Given the description of an element on the screen output the (x, y) to click on. 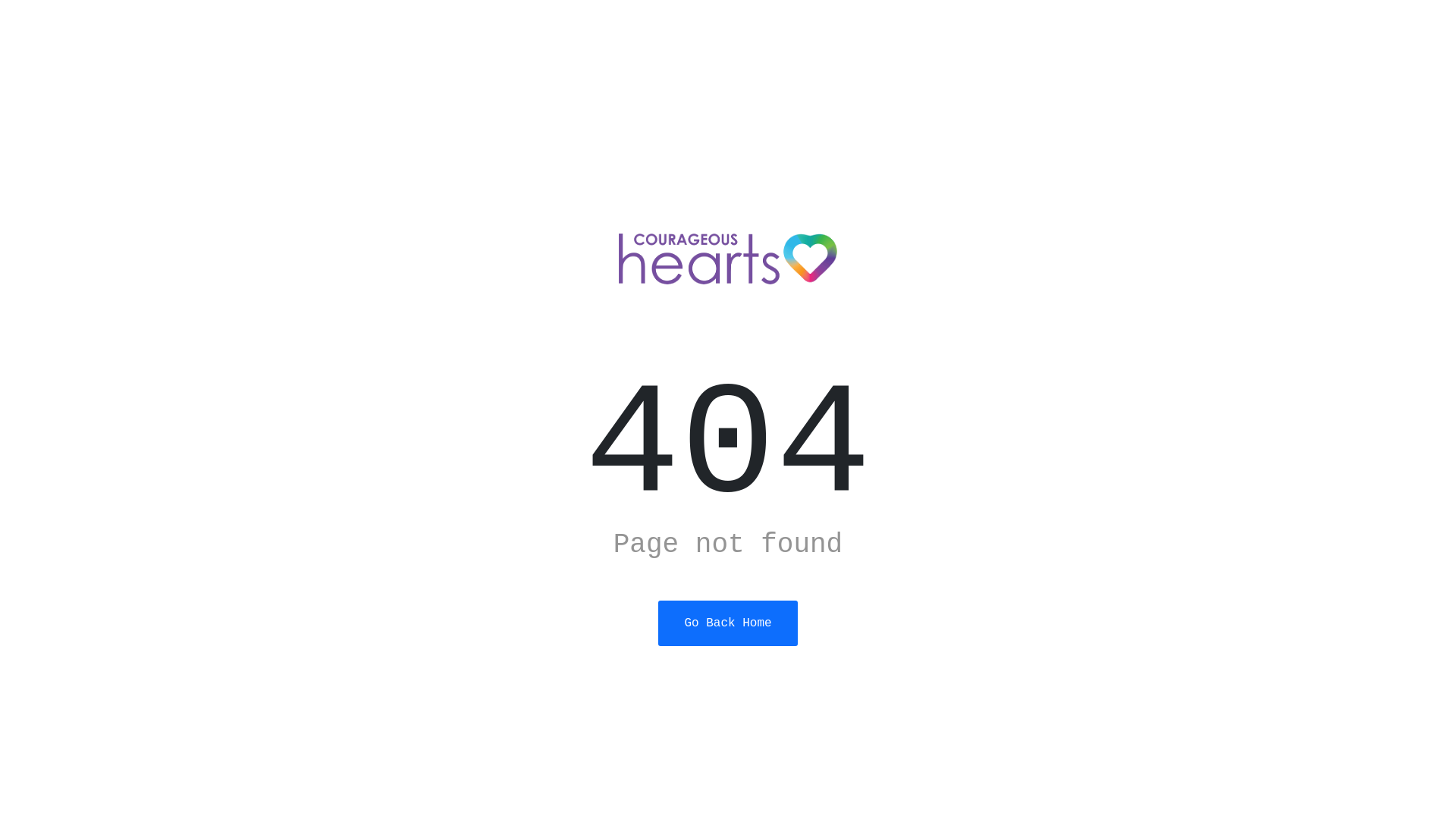
Go Back Home Element type: text (727, 623)
